Given the description of an element on the screen output the (x, y) to click on. 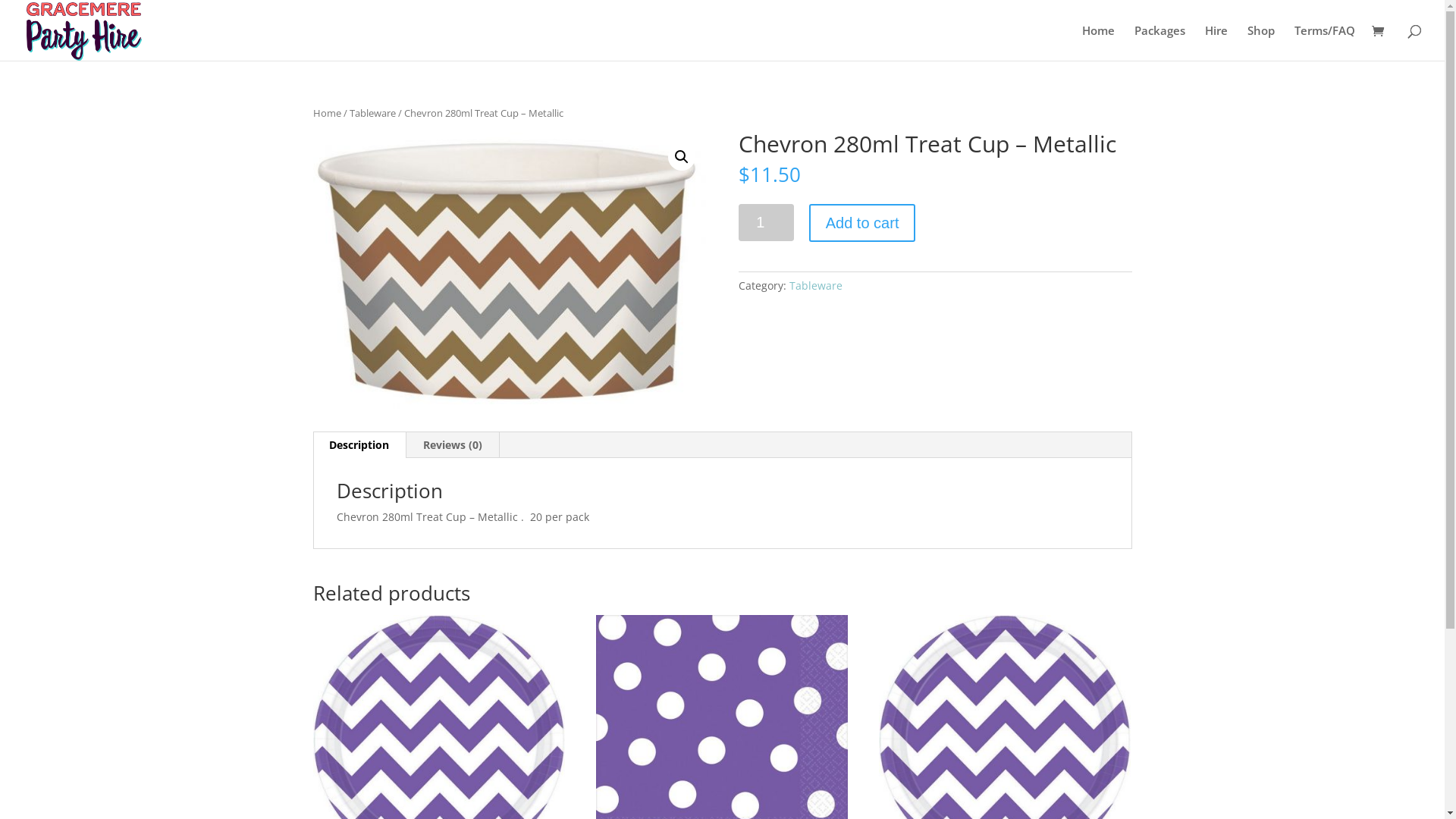
Shop Element type: text (1260, 42)
38177-431656-1-- Element type: hover (508, 270)
Hire Element type: text (1215, 42)
Add to cart Element type: text (862, 222)
Qty Element type: hover (765, 222)
Home Element type: text (1098, 42)
Tableware Element type: text (815, 285)
Terms/FAQ Element type: text (1324, 42)
Description Element type: text (358, 445)
Reviews (0) Element type: text (452, 445)
Tableware Element type: text (371, 112)
Packages Element type: text (1159, 42)
Home Element type: text (326, 112)
